Given the description of an element on the screen output the (x, y) to click on. 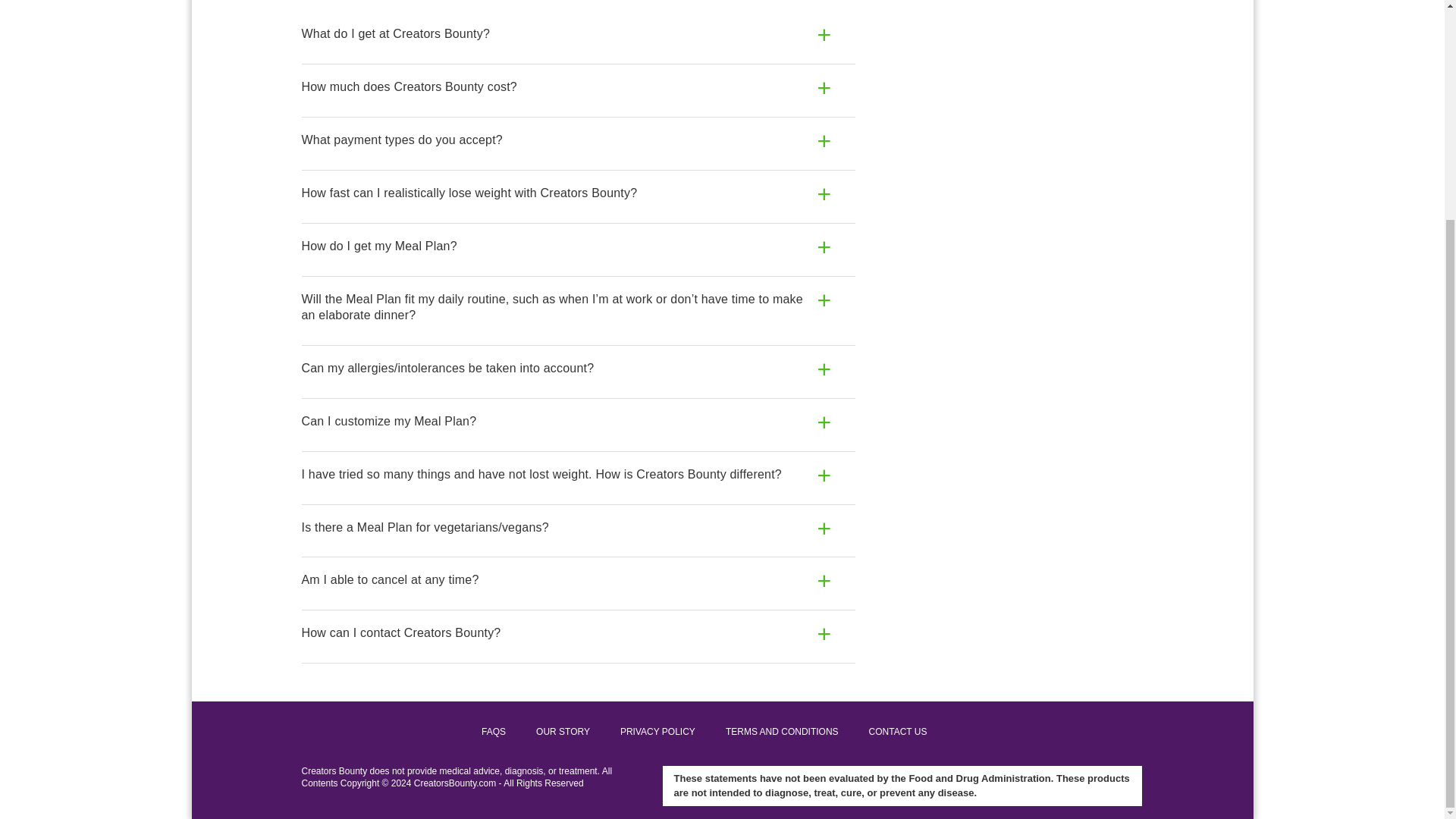
OUR STORY (562, 731)
Privacy Policy (657, 731)
What do I get at Creators Bounty? (578, 34)
How do I get my Meal Plan? (578, 246)
What payment types do you accept? (578, 140)
Our Story (562, 731)
PRIVACY POLICY (657, 731)
Am I able to cancel at any time? (578, 580)
Can I customize my Meal Plan? (578, 421)
